Given the description of an element on the screen output the (x, y) to click on. 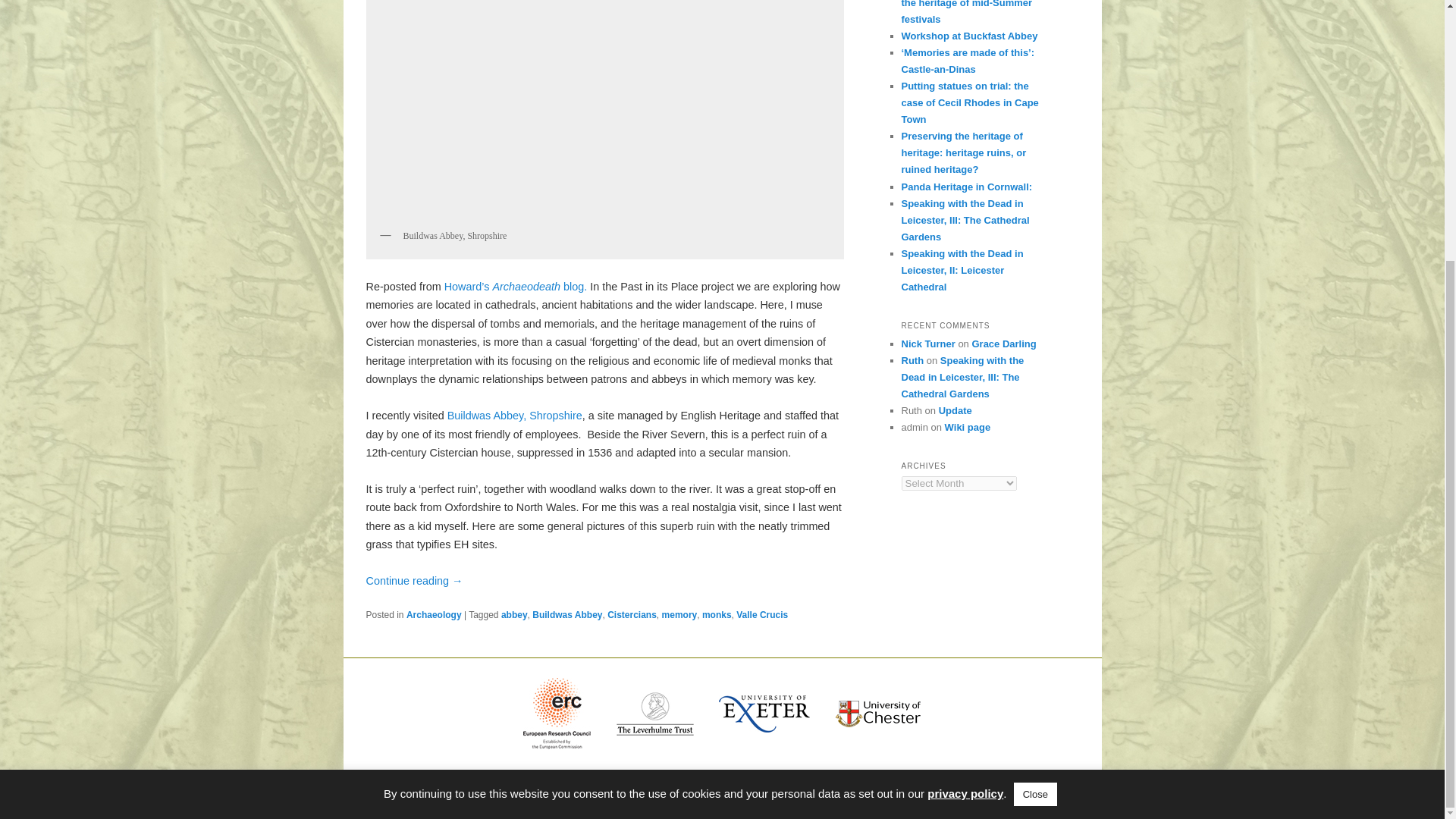
Panda Heritage in Cornwall: (966, 186)
monks (716, 614)
Buildwas Abbey (514, 415)
Speaking with the Dead in Leicester, II: Leicester Cathedral (962, 270)
Valle Crucis (761, 614)
Workshop at Buckfast Abbey (968, 35)
Grace Darling (1003, 343)
Update (955, 410)
memory (679, 614)
Cistercians (631, 614)
Ruth (912, 360)
Buildwas Abbey, Shropshire (514, 415)
